Given the description of an element on the screen output the (x, y) to click on. 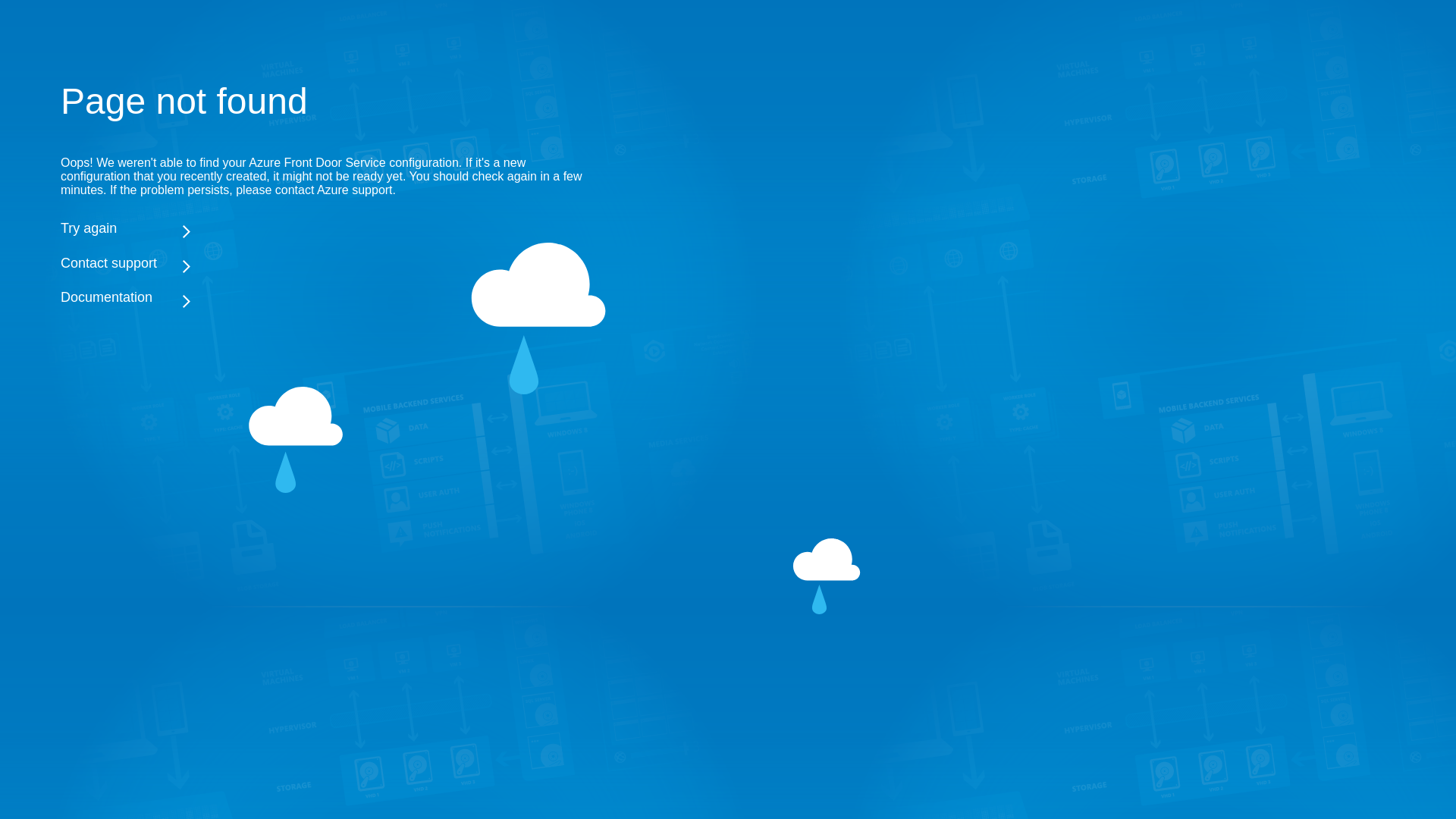
Contact support (326, 262)
Documentation (326, 297)
Try again (326, 228)
